Given the description of an element on the screen output the (x, y) to click on. 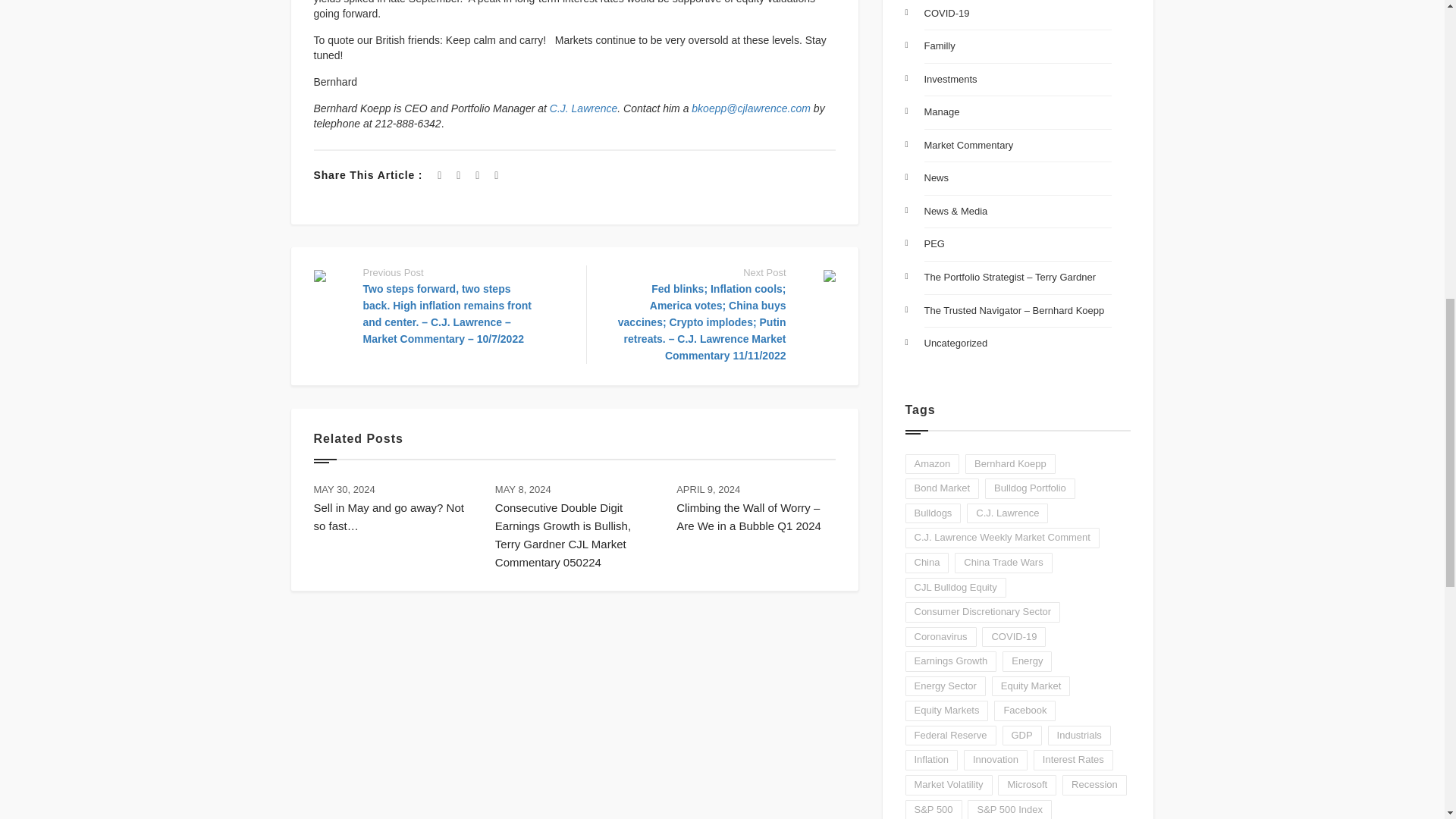
C.J. Lawrence (583, 108)
